Given the description of an element on the screen output the (x, y) to click on. 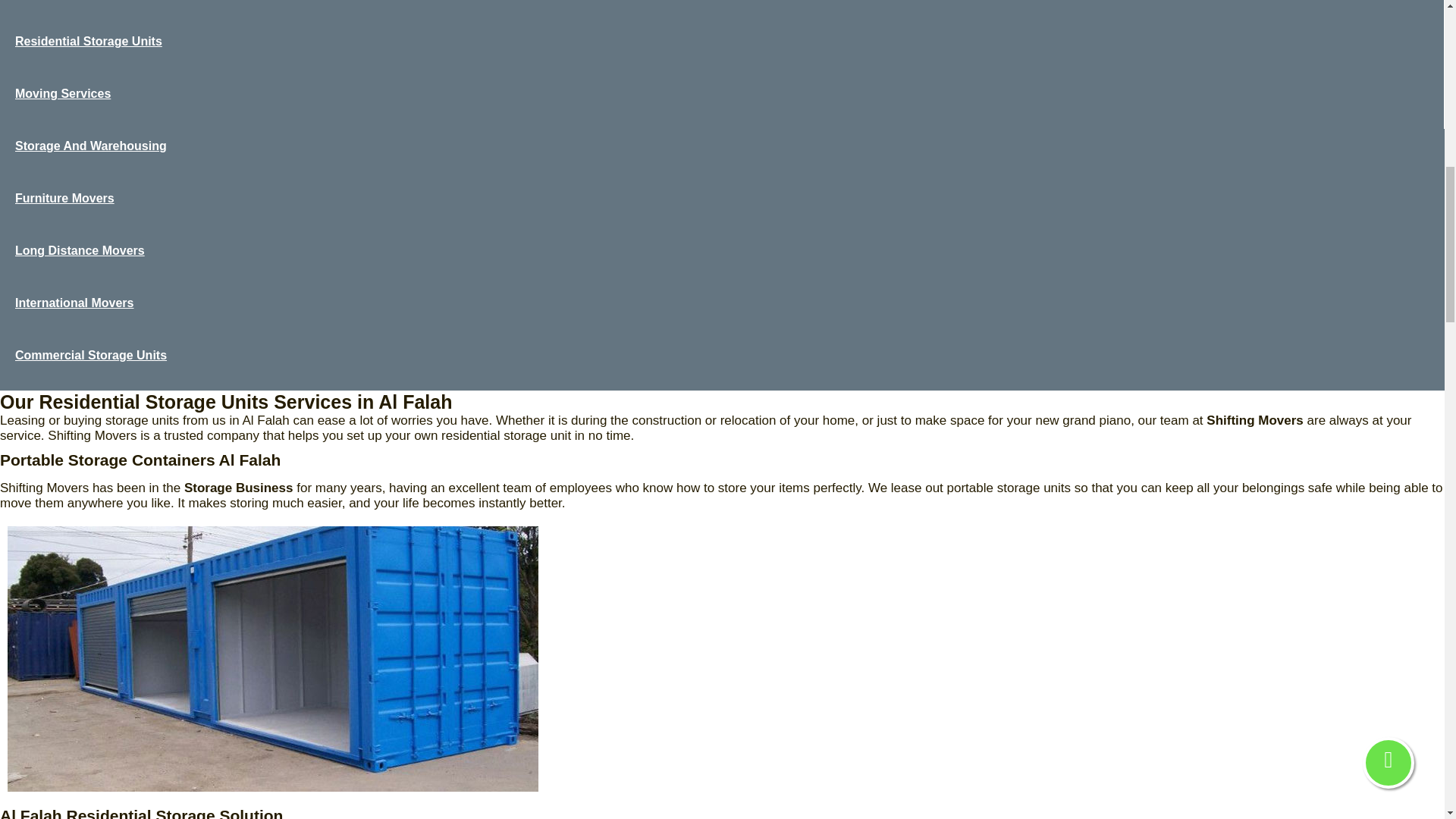
Furniture Moving (1299, 352)
House Moving (722, 12)
Moving Services (722, 102)
Residential Storage Units (722, 50)
